Given the description of an element on the screen output the (x, y) to click on. 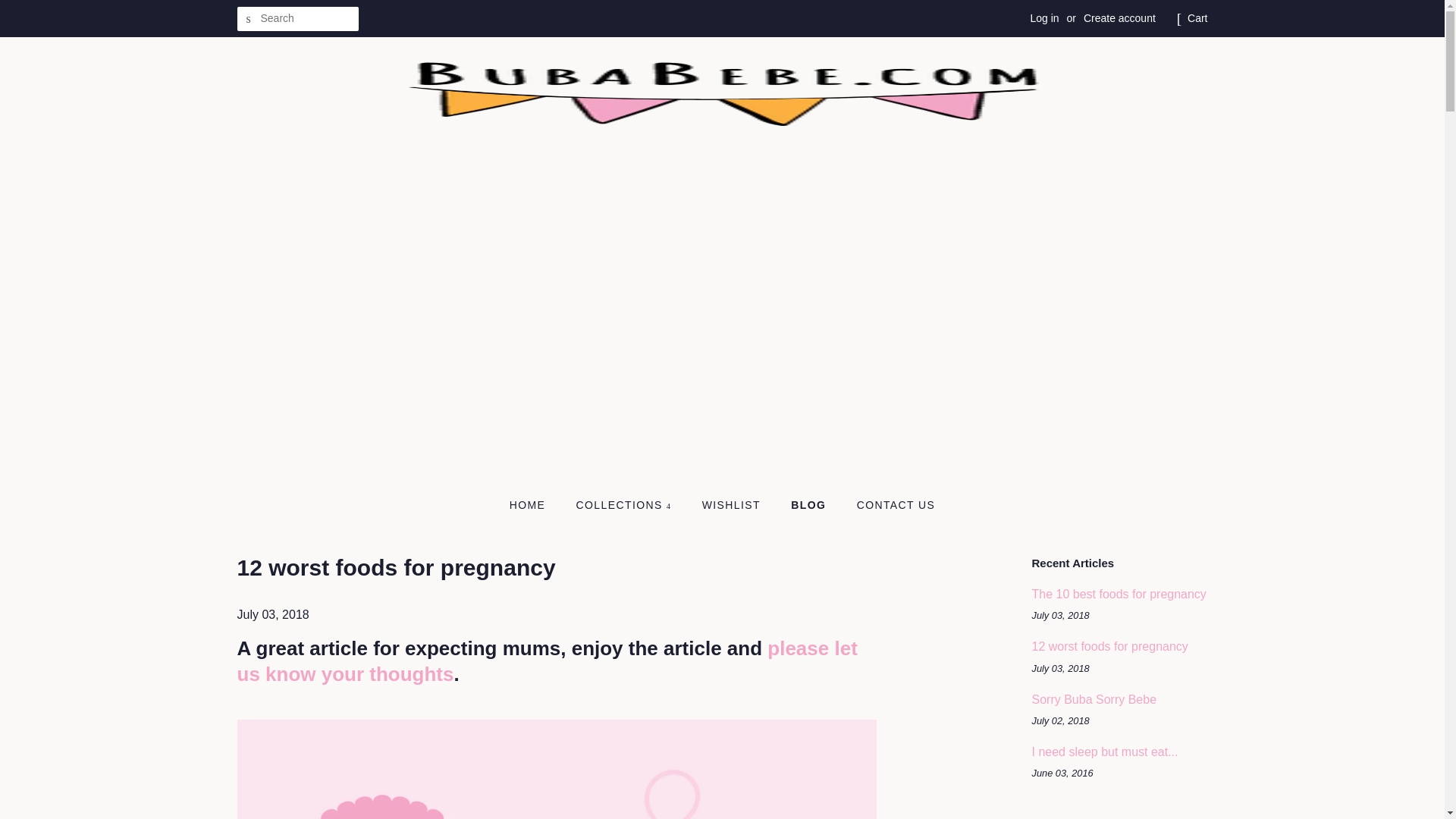
Log in (1043, 18)
BLOG (809, 505)
SEARCH (247, 18)
Cart (1197, 18)
HOME (534, 505)
Let us know your thoughts... (546, 661)
WISHLIST (733, 505)
Create account (1119, 18)
CONTACT US (890, 505)
please let us know your thoughts (546, 661)
COLLECTIONS (625, 505)
